Given the description of an element on the screen output the (x, y) to click on. 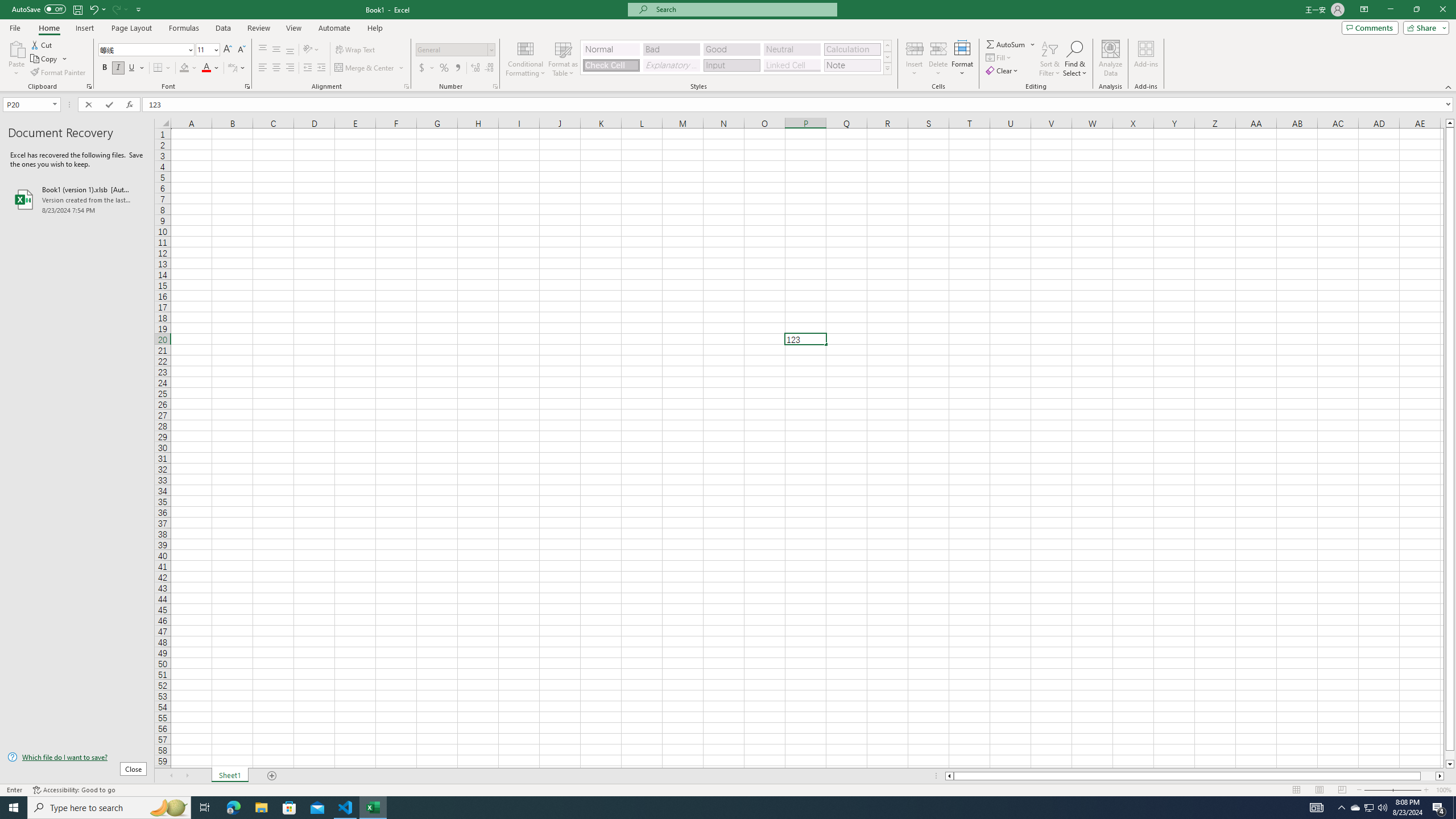
More Options (1033, 44)
Show Phonetic Field (231, 67)
Help (374, 28)
Microsoft search (742, 9)
Format as Table (563, 58)
Office Clipboard... (88, 85)
Line down (1449, 764)
Paste (16, 58)
Scroll Right (187, 775)
Formula Bar (799, 104)
Class: NetUIScrollBar (1194, 775)
View (293, 28)
Align Left (262, 67)
Save (77, 9)
Customize Quick Access Toolbar (139, 9)
